Given the description of an element on the screen output the (x, y) to click on. 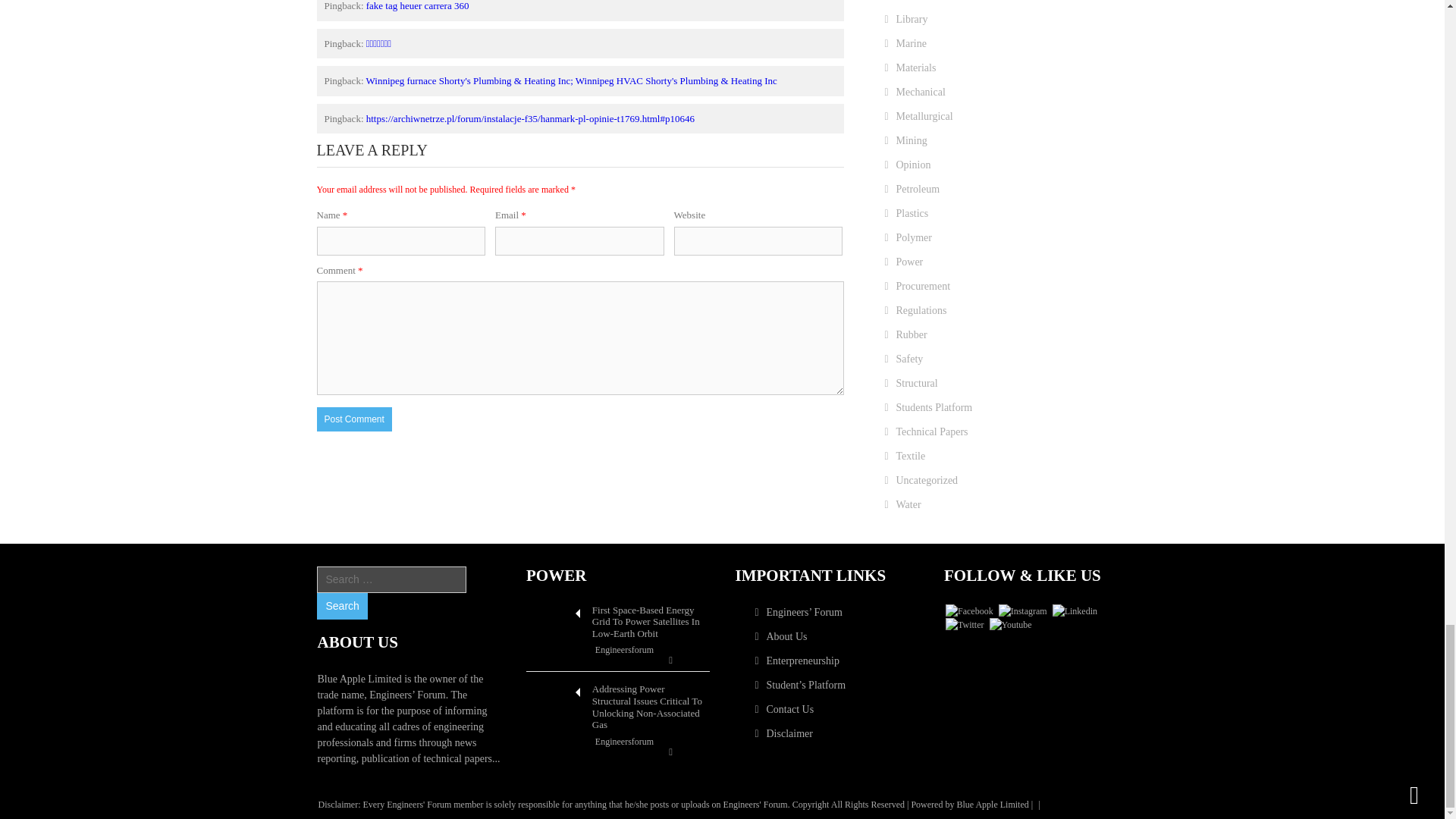
Search (341, 605)
Search (341, 605)
Post Comment (354, 419)
